Given the description of an element on the screen output the (x, y) to click on. 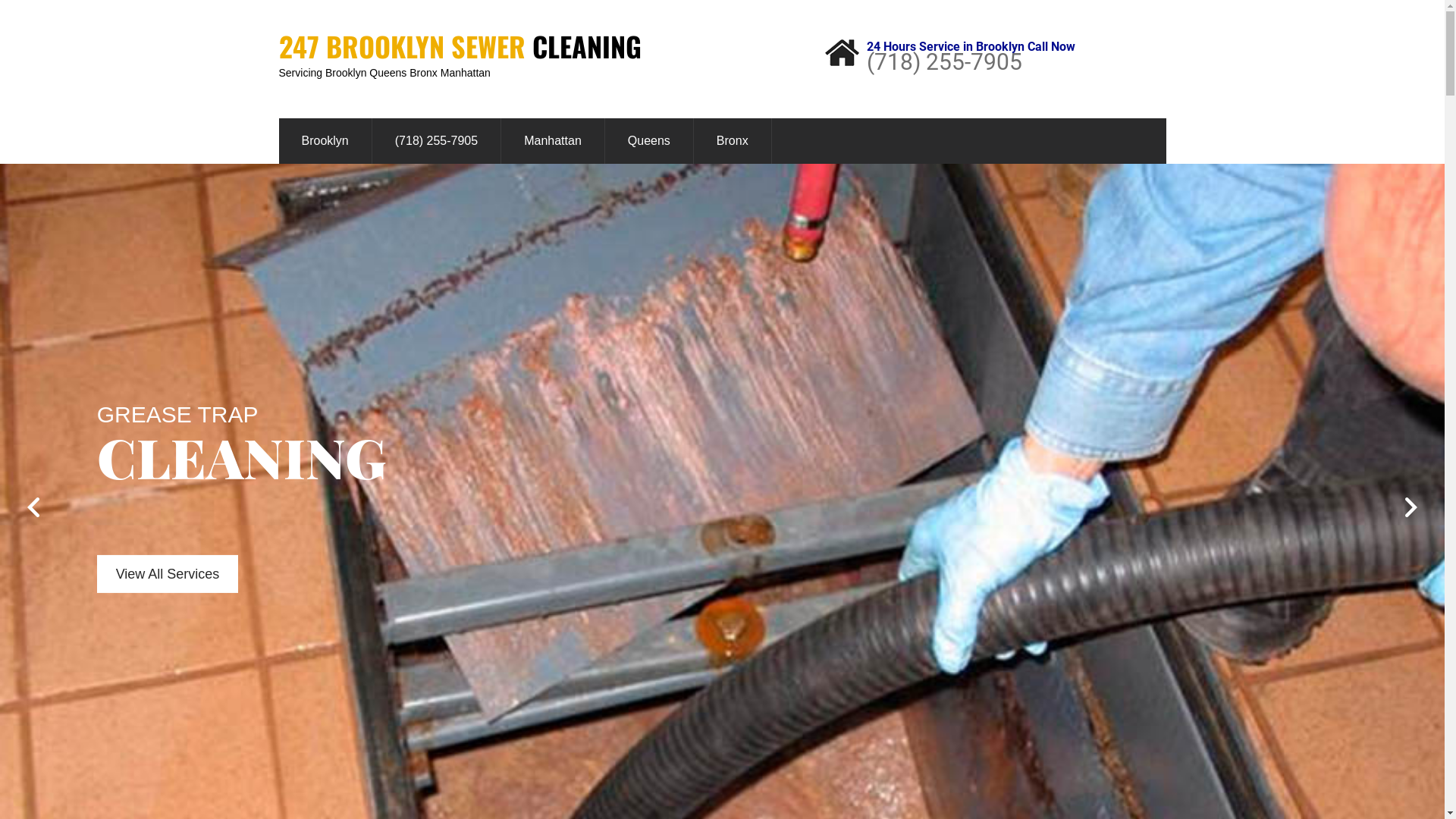
Manhattan Element type: text (552, 140)
Prev Element type: text (26, 507)
Next Element type: text (1417, 507)
Brooklyn Element type: text (325, 140)
(718) 255-7905 Element type: text (436, 140)
Bronx Element type: text (732, 140)
Queens Element type: text (649, 140)
